Given the description of an element on the screen output the (x, y) to click on. 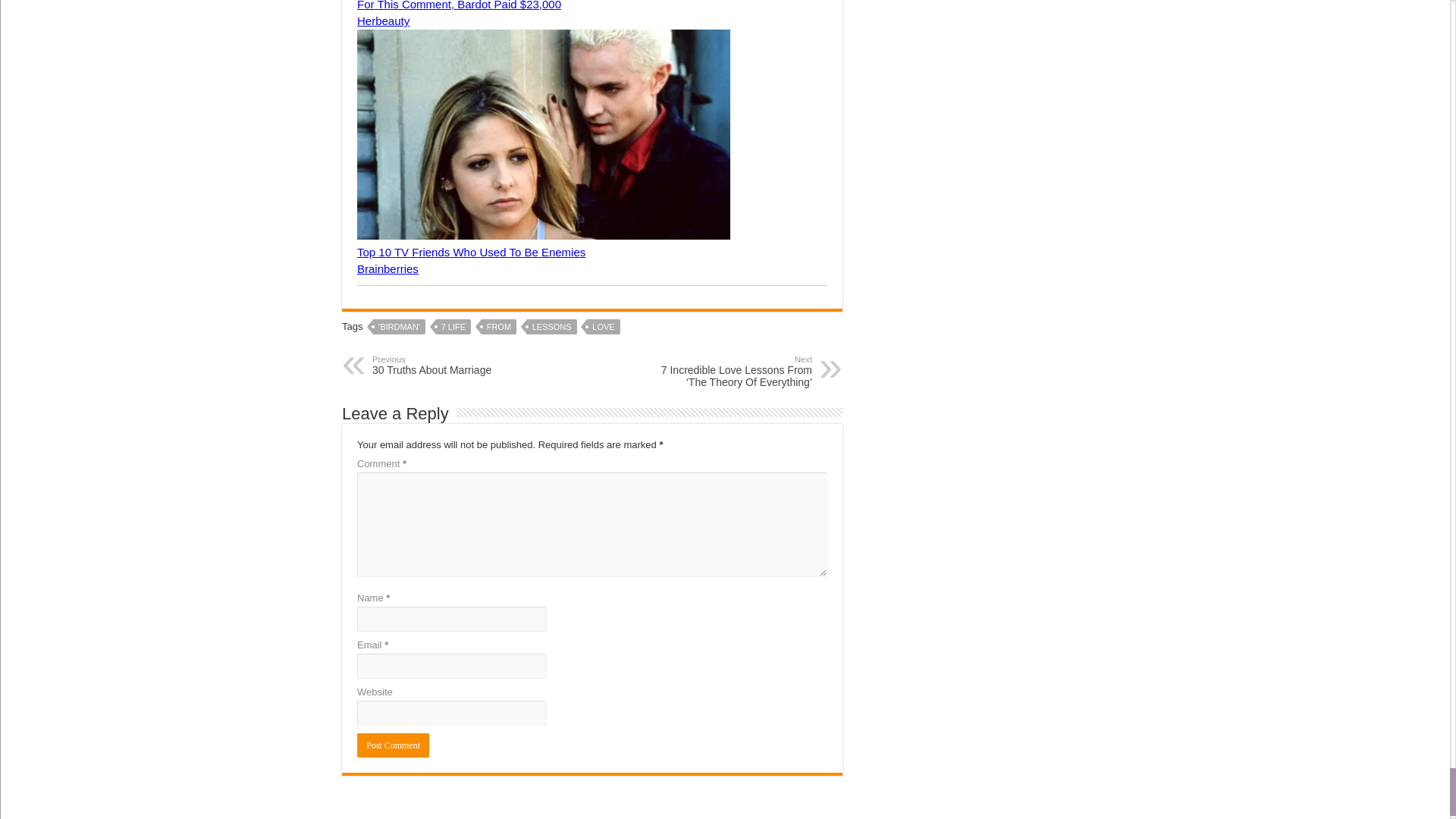
Post Comment (392, 745)
